Given the description of an element on the screen output the (x, y) to click on. 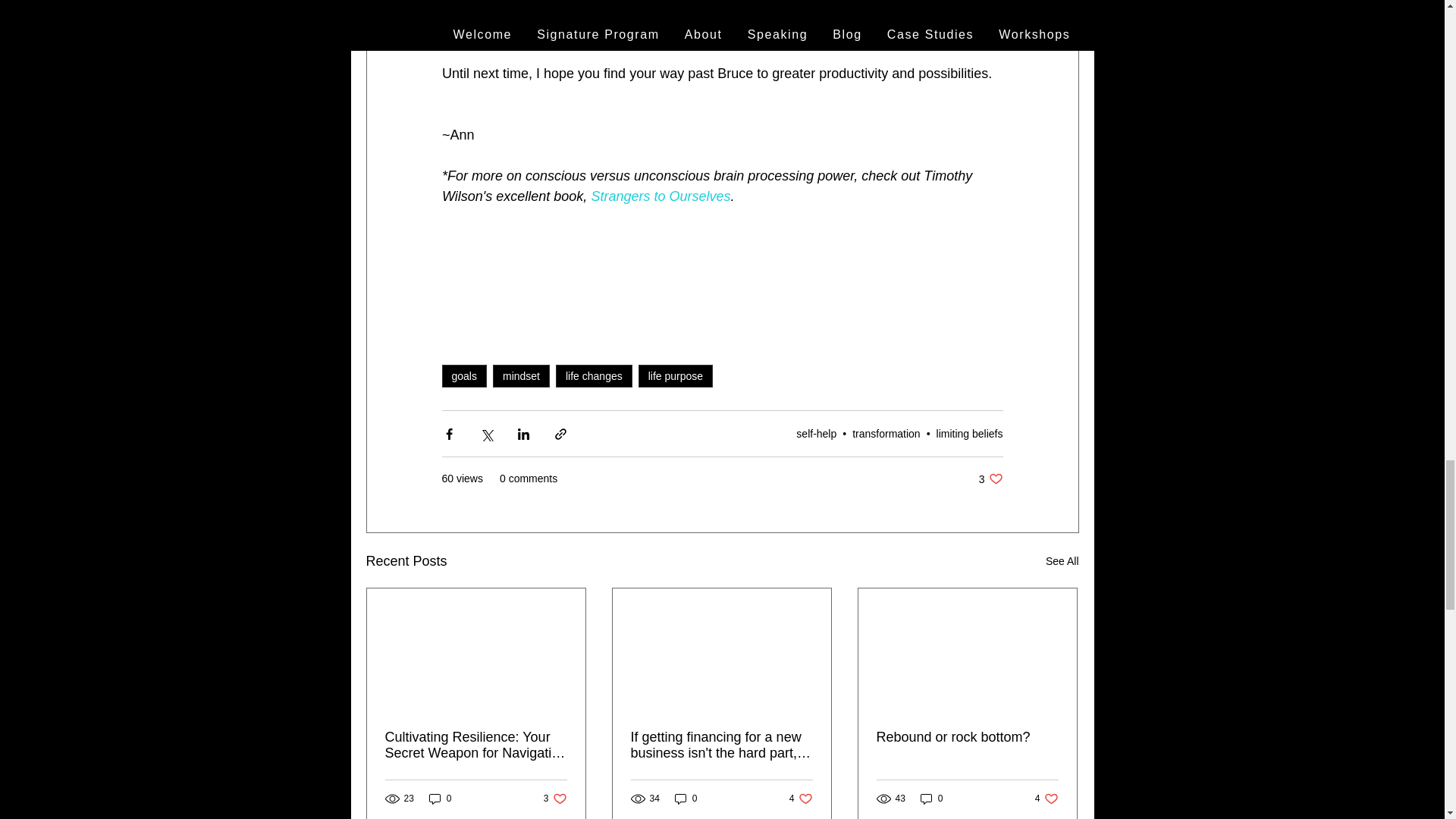
See All (1061, 561)
Strangers to Ourselves (660, 196)
life changes (593, 375)
Schedule time with Ann (722, 8)
limiting beliefs (990, 478)
life purpose (555, 798)
mindset (969, 433)
